Given the description of an element on the screen output the (x, y) to click on. 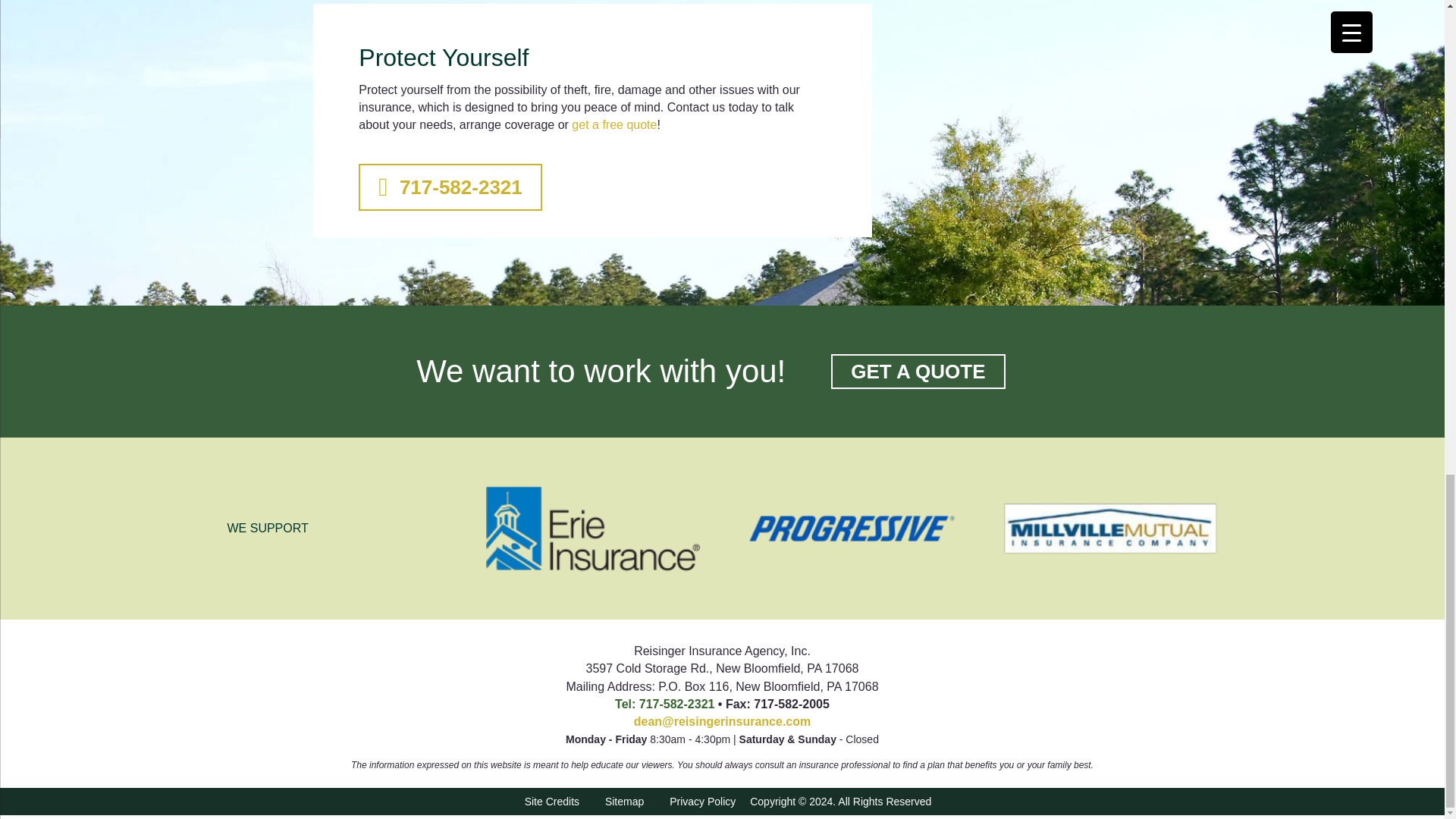
Logo-Erie-Insurance (593, 528)
Call Reisinger Insurance Agency, Inc. (664, 703)
